Given the description of an element on the screen output the (x, y) to click on. 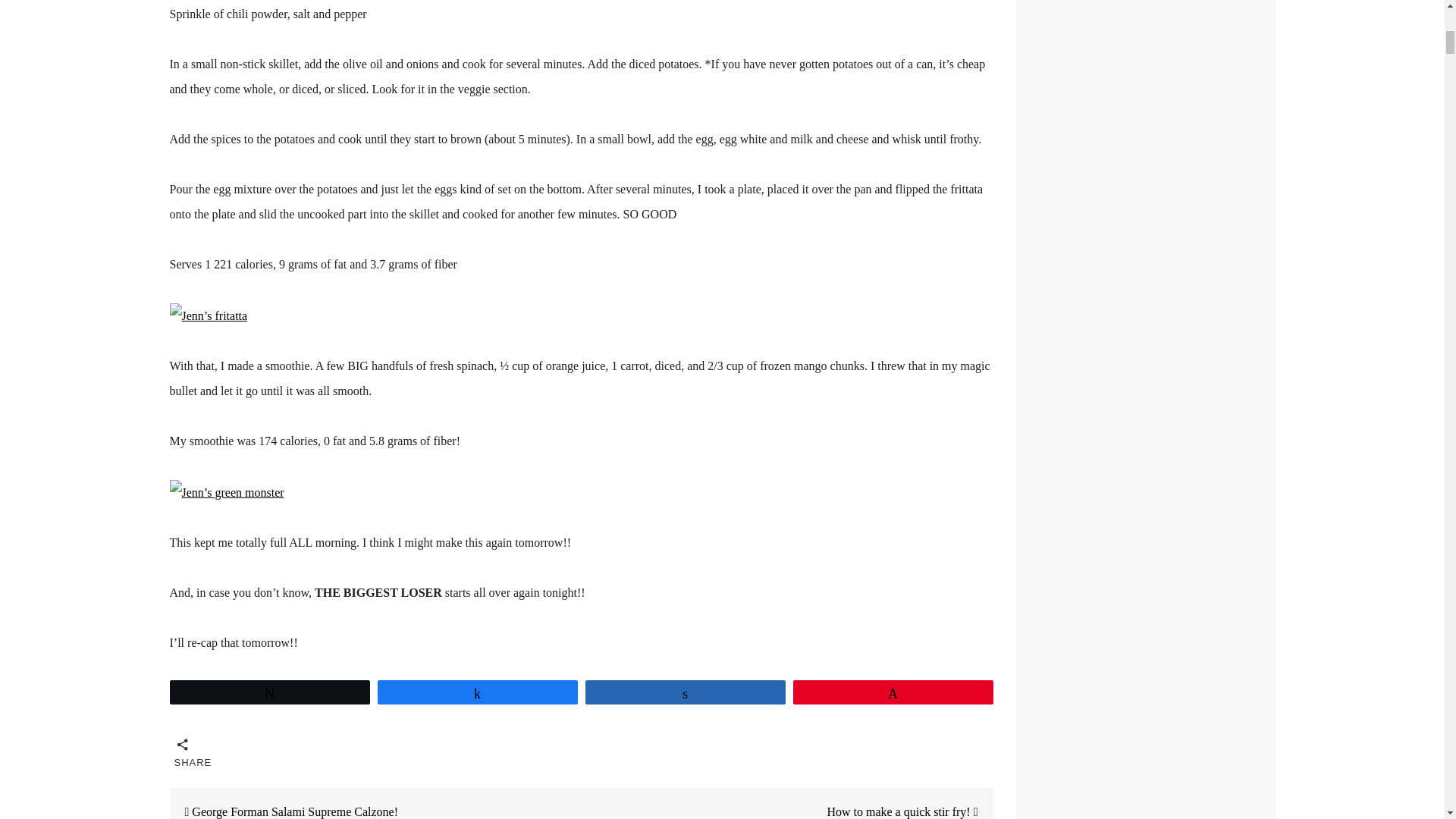
SHARE (183, 749)
How to make a quick stir fry! (909, 803)
George Forman Salami Supreme Calzone! (283, 803)
